Given the description of an element on the screen output the (x, y) to click on. 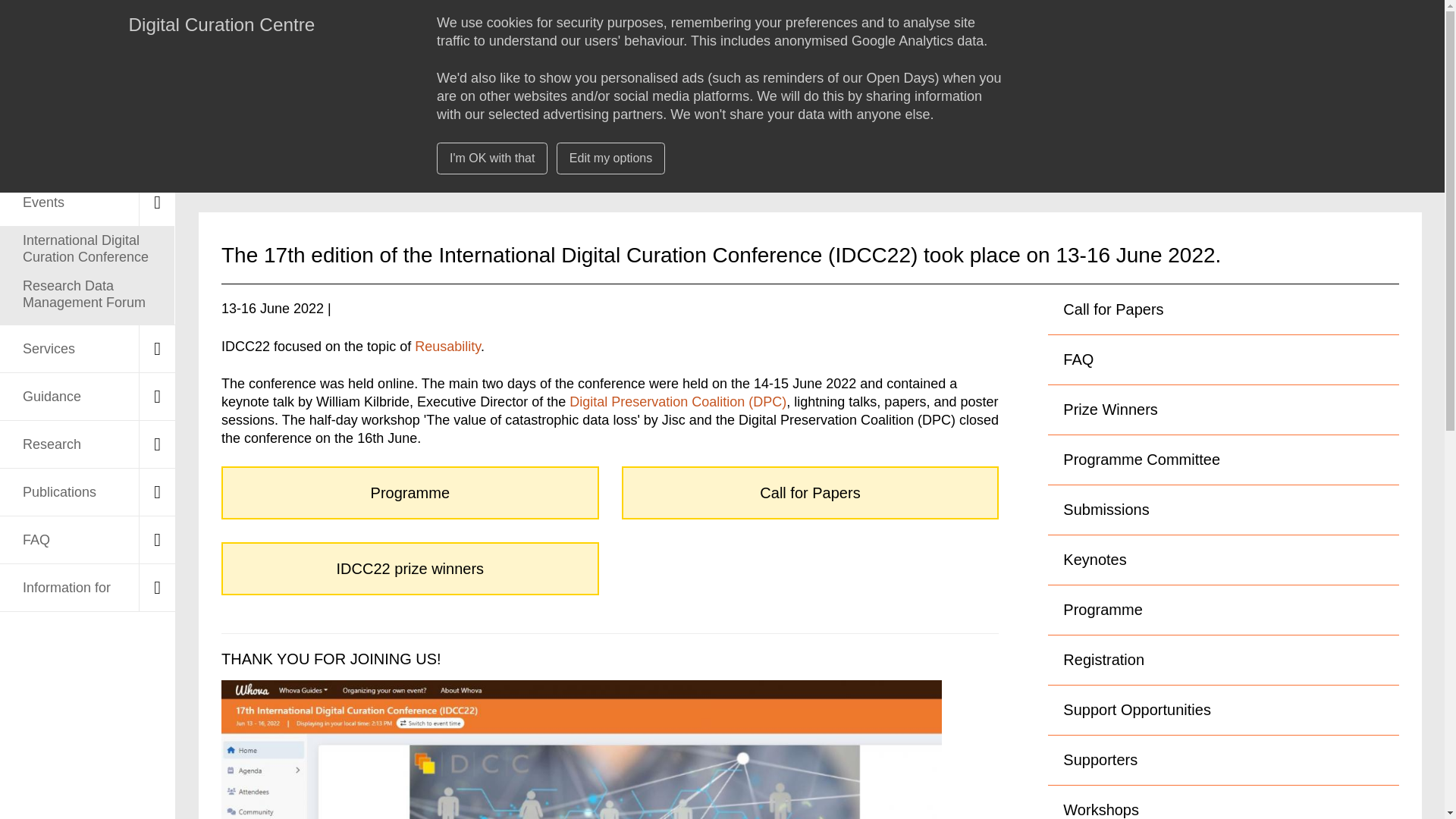
Research (87, 443)
Events (87, 202)
News (87, 154)
Services (87, 348)
News (87, 154)
Digital curation frequently asked questions (87, 539)
I'm OK with that (491, 158)
DCC Website Logo : Home (78, 39)
About (87, 106)
